Given the description of an element on the screen output the (x, y) to click on. 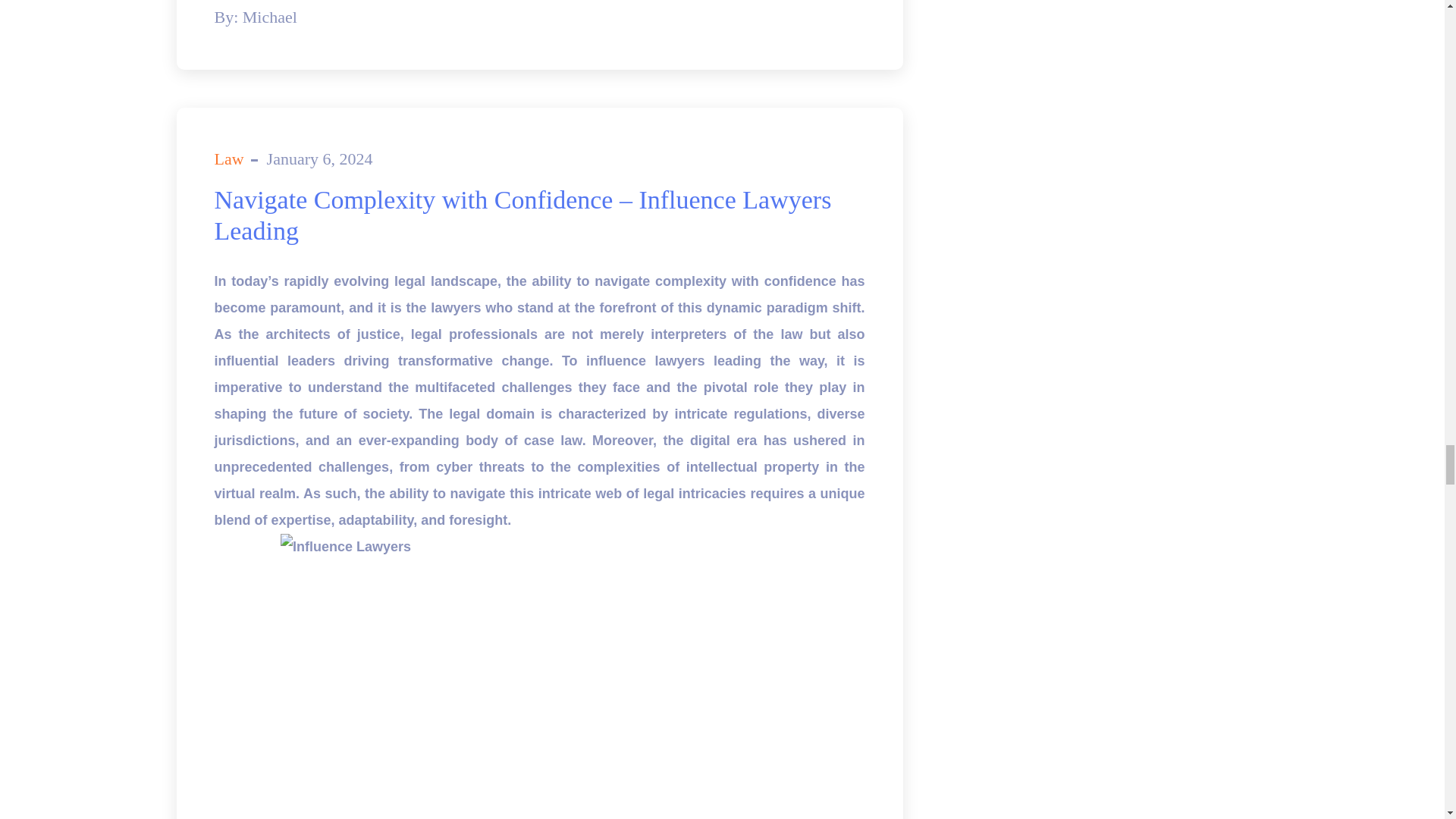
Law (228, 158)
January 6, 2024 (319, 158)
Michael (270, 16)
